Given the description of an element on the screen output the (x, y) to click on. 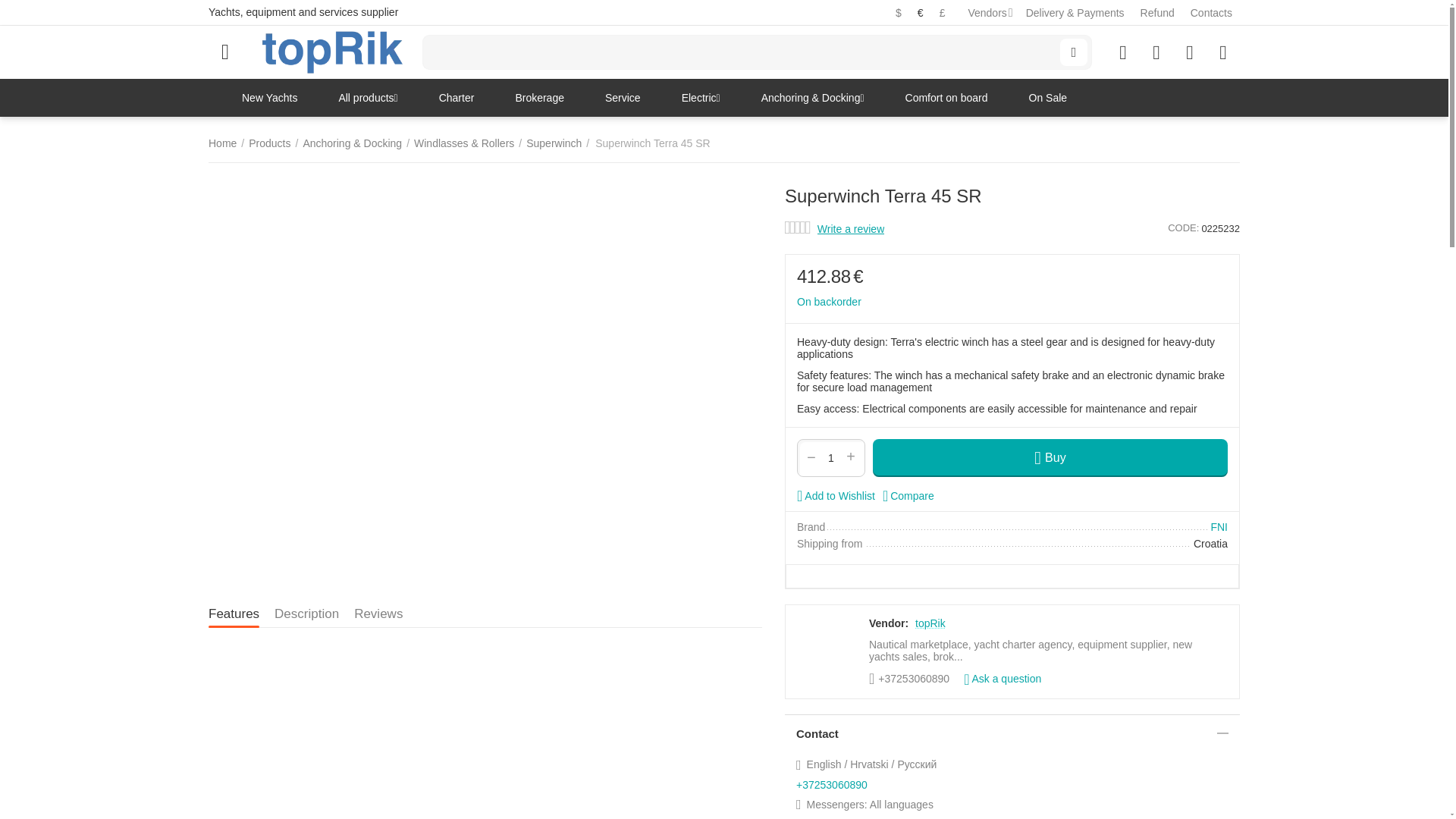
Search (1073, 52)
Vendors (987, 12)
topRik (332, 51)
Refund (1157, 12)
Contacts (1211, 12)
topRik (332, 52)
